Given the description of an element on the screen output the (x, y) to click on. 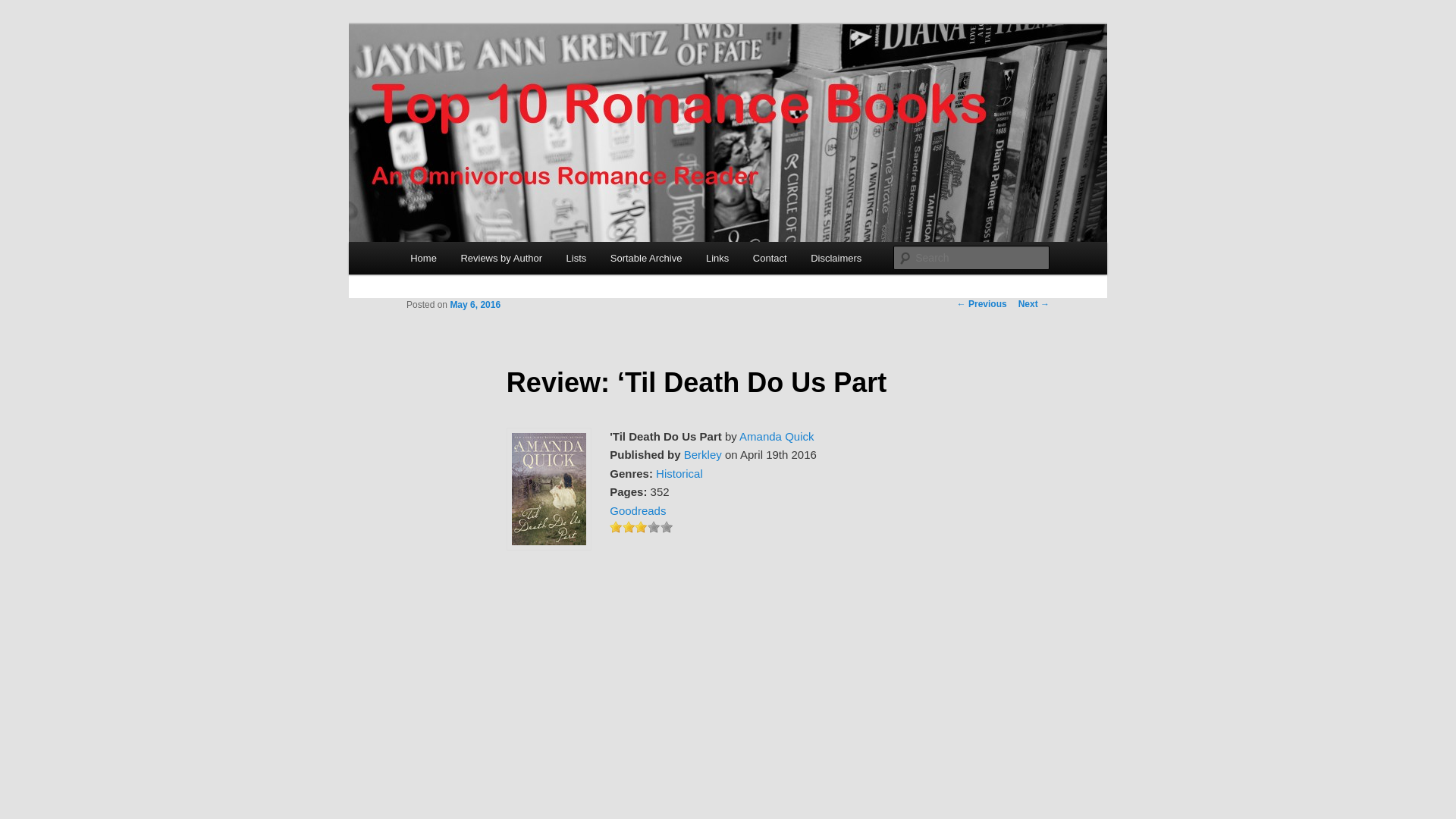
May 6, 2016 (474, 304)
Historical (679, 472)
Contact (769, 257)
Links (717, 257)
Sortable Archive (646, 257)
Disclaimers (835, 257)
Berkley (703, 454)
Amanda Quick (776, 436)
Home (422, 257)
